Given the description of an element on the screen output the (x, y) to click on. 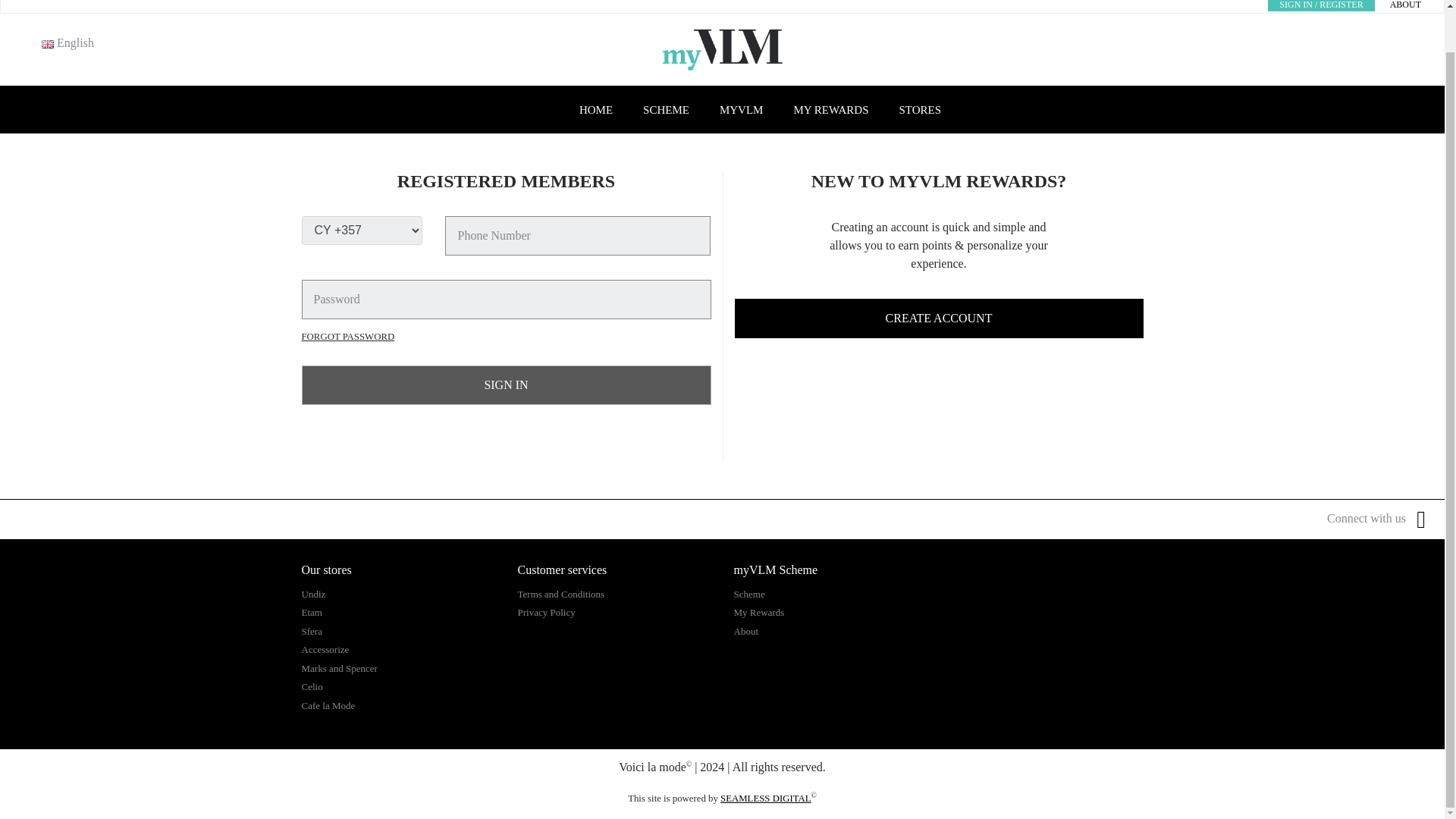
Sign In (506, 384)
Privacy Policy (545, 612)
Accessorize (325, 649)
Sign In (506, 384)
HOME (595, 110)
SCHEME (665, 110)
Sfera (311, 631)
STORES (919, 110)
Marks and Spencer (339, 668)
MYVLM (741, 110)
